Given the description of an element on the screen output the (x, y) to click on. 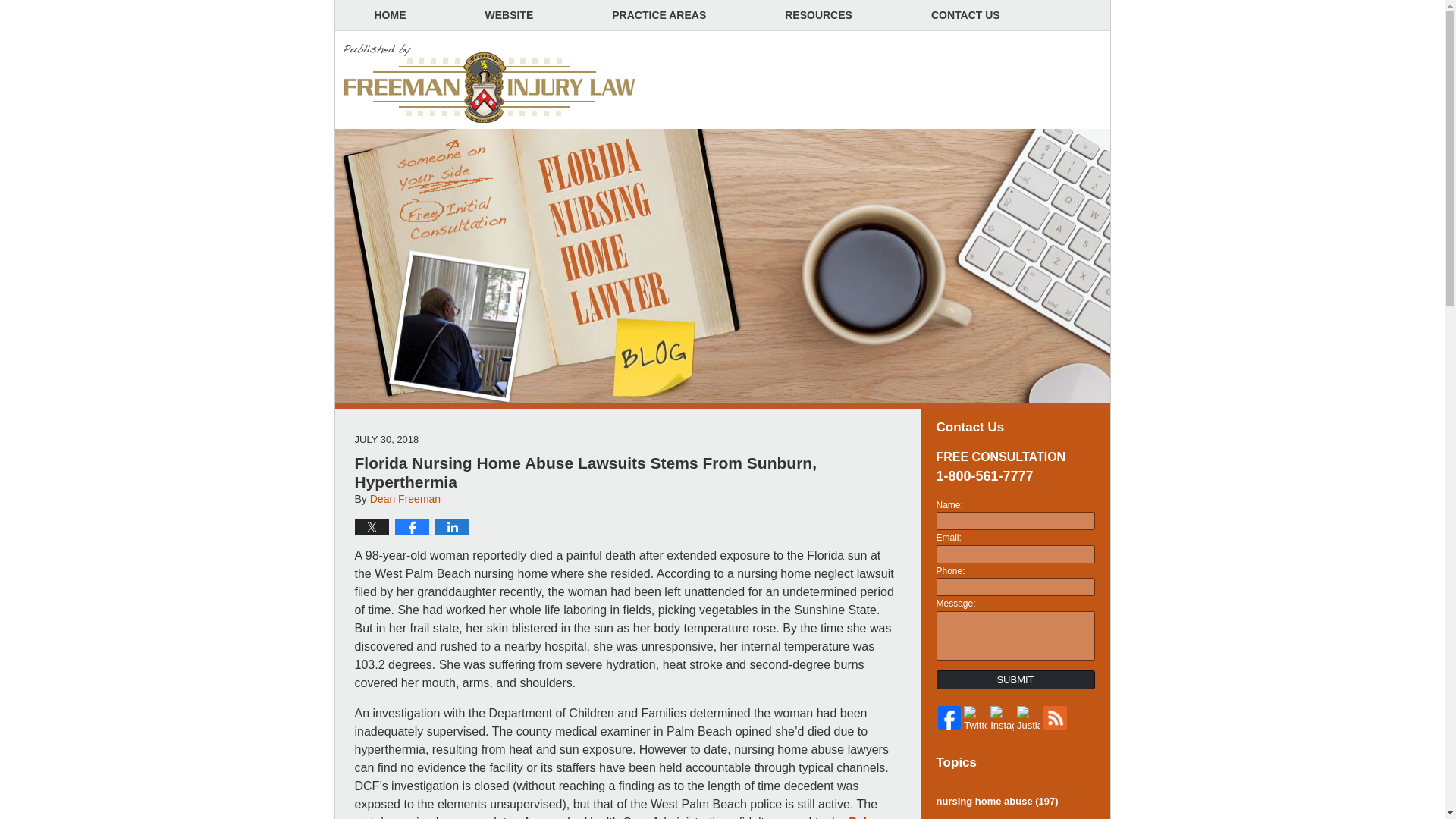
Instagram (1001, 719)
PRACTICE AREAS (658, 15)
WEBSITE (509, 15)
Facebook (948, 717)
SUBMIT (1015, 679)
Facebook (949, 717)
CONTACT US (965, 15)
Florida Nursing Home Lawyer Blog (489, 84)
RESOURCES (818, 15)
Justia (1028, 719)
